Given the description of an element on the screen output the (x, y) to click on. 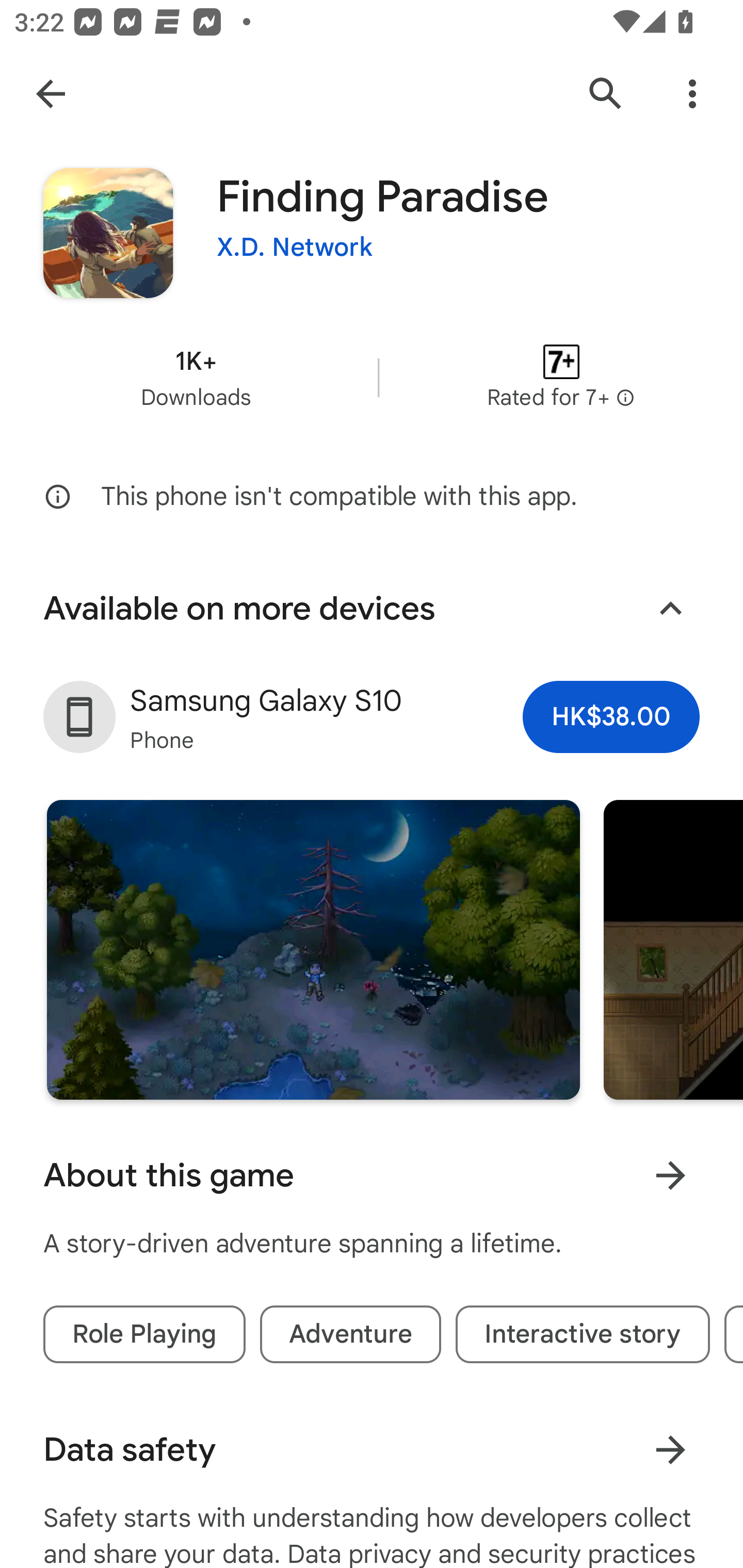
Navigate up (50, 93)
Search Google Play (605, 93)
More Options (692, 93)
X.D. Network (294, 247)
Content rating Rated for 7+ (561, 377)
Available on more devices Collapse (371, 608)
Collapse (670, 609)
HK$38.00 (610, 717)
Screenshot "1" of "5" (313, 949)
About this game Learn more About this game (371, 1175)
Learn more About this game (670, 1175)
Role Playing tag (144, 1334)
Adventure tag (350, 1334)
Interactive story tag (582, 1334)
Data safety Learn more about data safety (371, 1449)
Learn more about data safety (670, 1449)
